Given the description of an element on the screen output the (x, y) to click on. 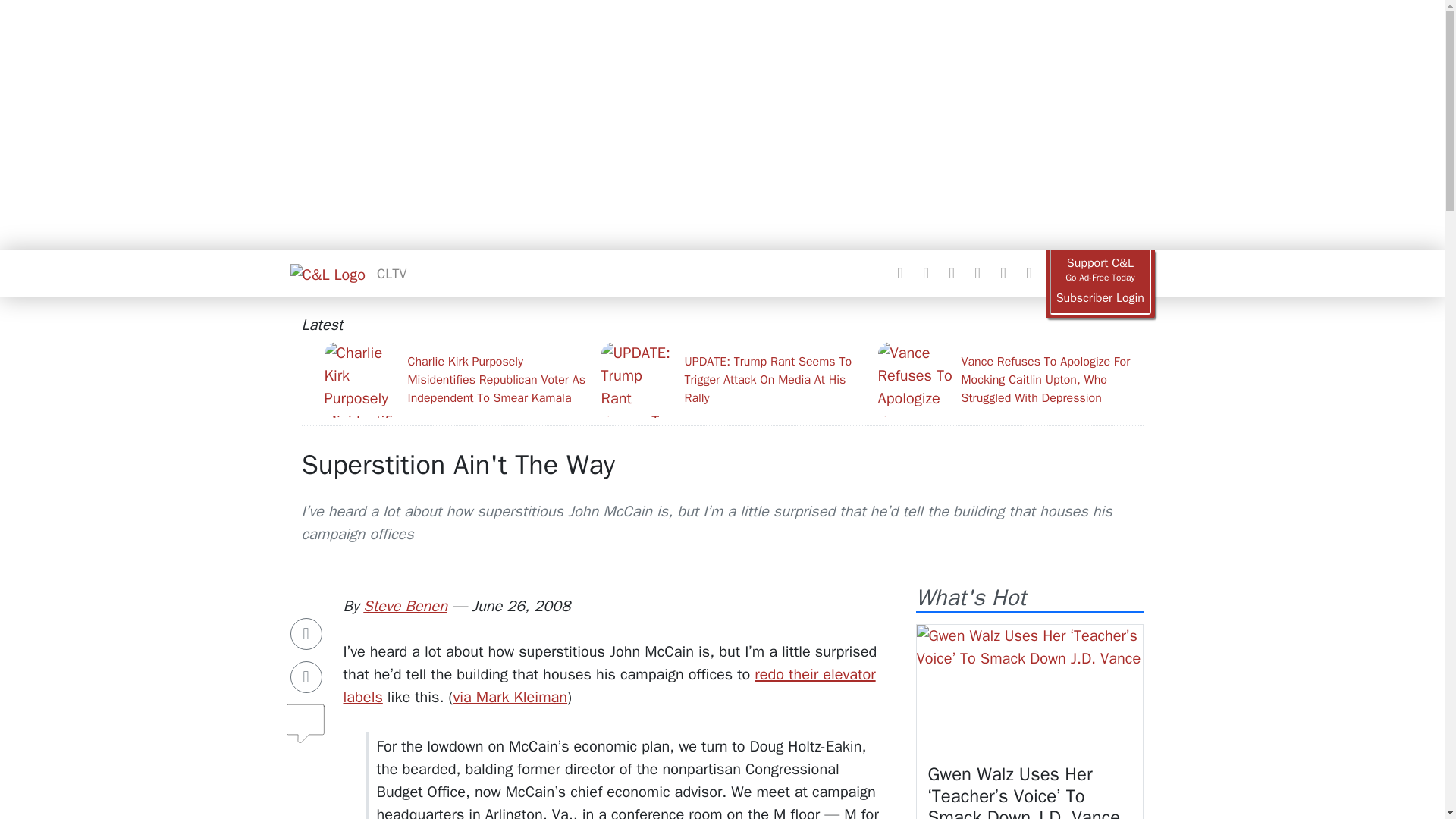
Share on Twitter (306, 676)
Share on Facebook (306, 634)
Subscriber Login (1099, 298)
Steve Benen (404, 606)
Steve Benen (404, 606)
